Given the description of an element on the screen output the (x, y) to click on. 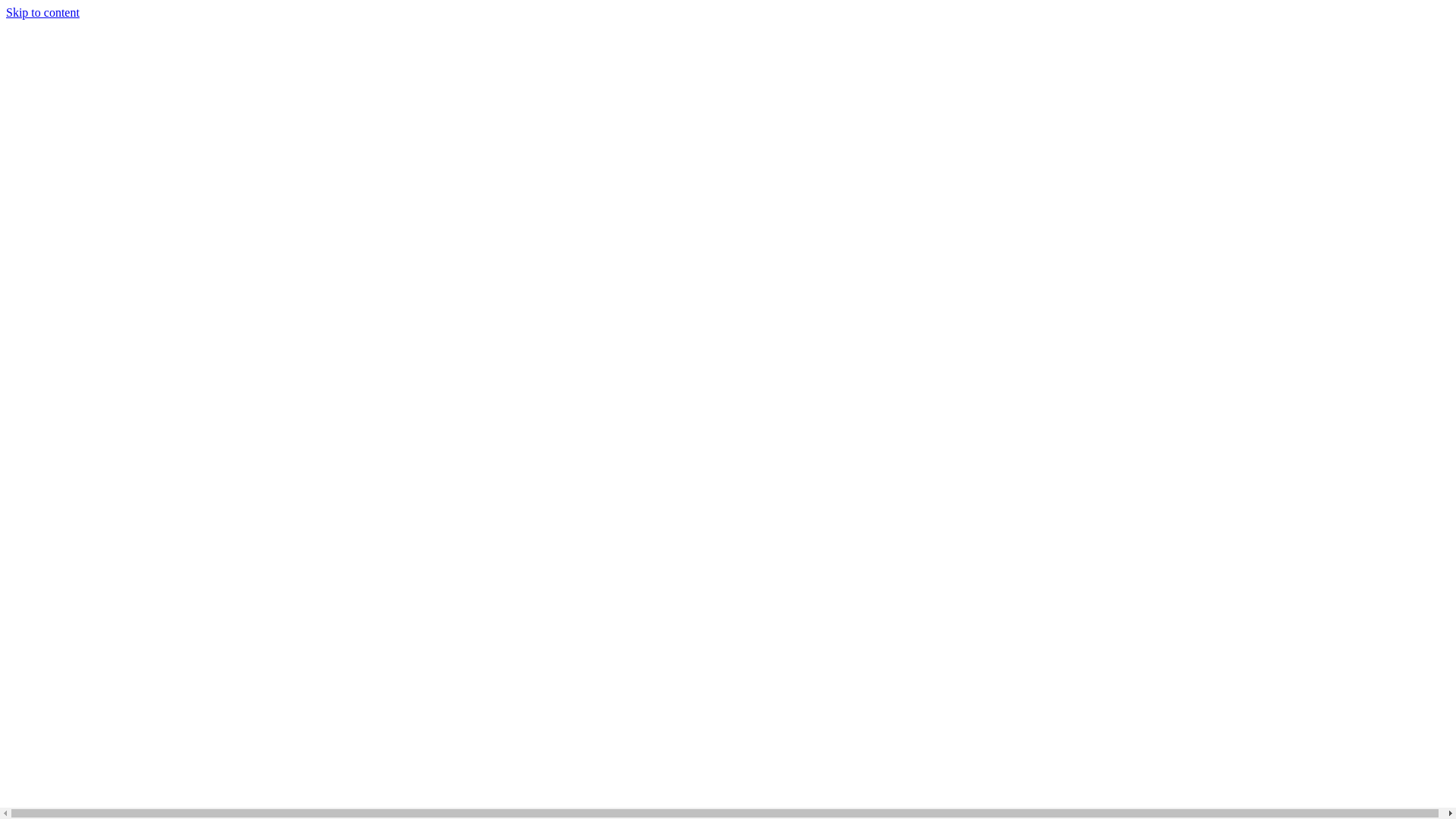
Skip to content Element type: text (42, 12)
